Given the description of an element on the screen output the (x, y) to click on. 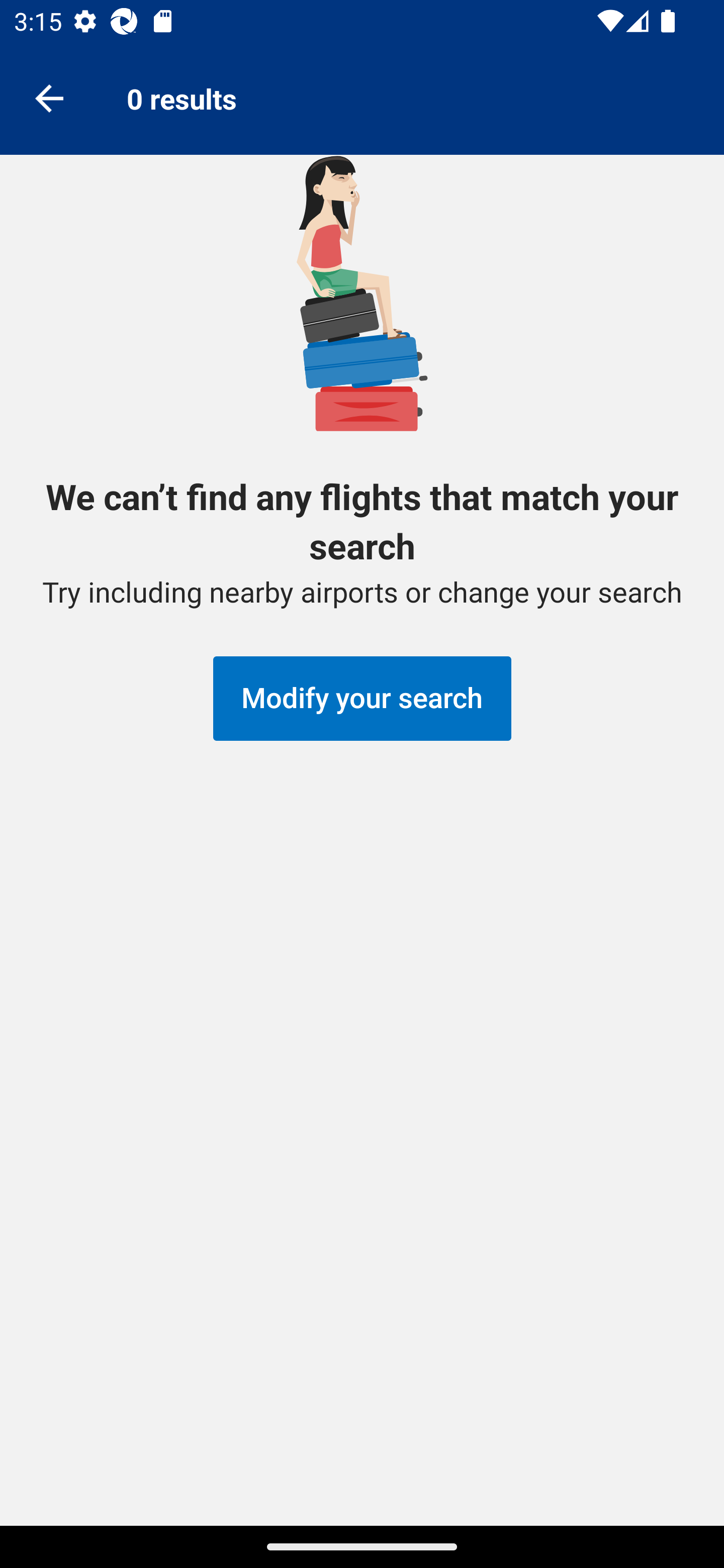
Navigate up (49, 97)
Modify your search (361, 698)
